Given the description of an element on the screen output the (x, y) to click on. 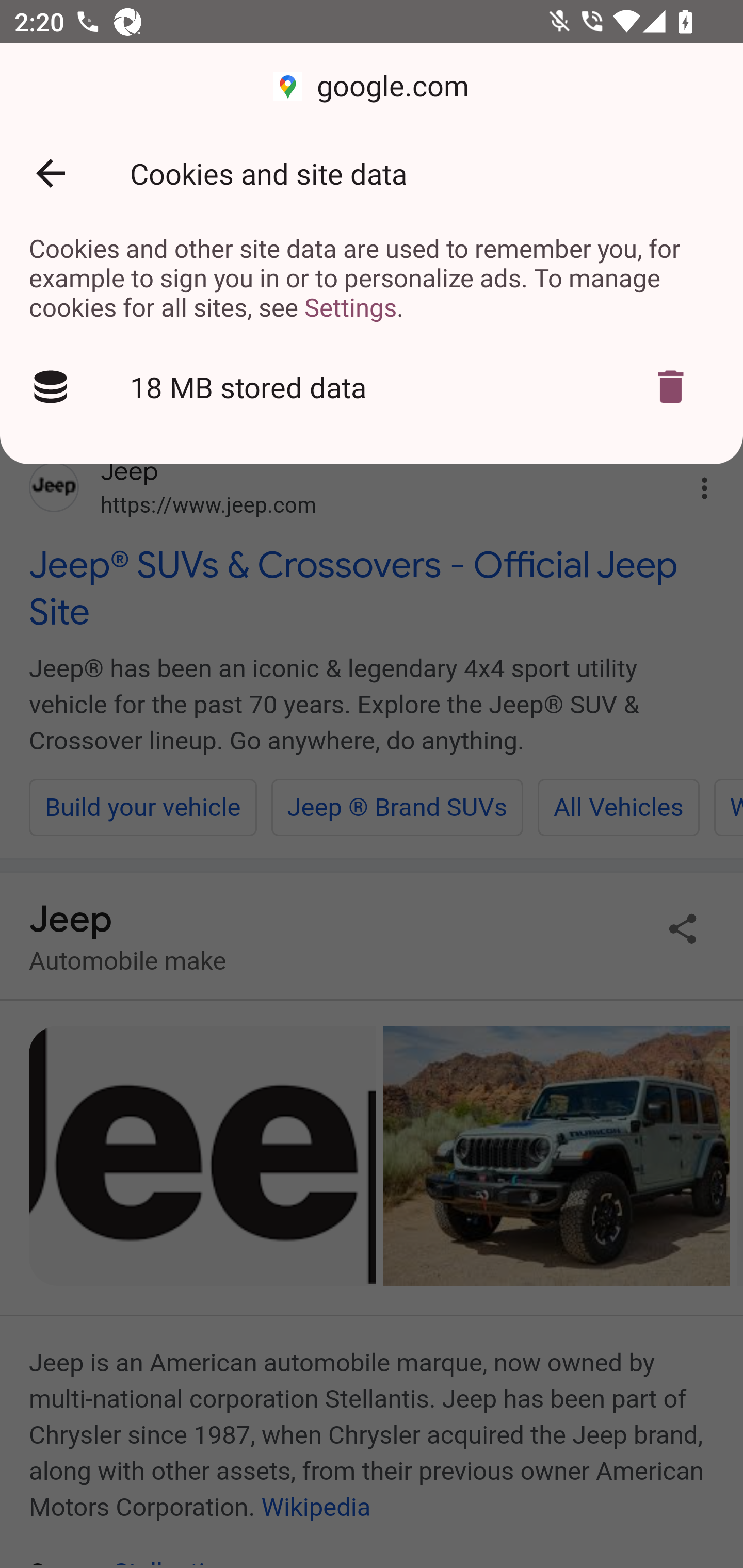
google.com (371, 86)
Back (50, 173)
18 MB stored data Delete cookies? (371, 386)
